Given the description of an element on the screen output the (x, y) to click on. 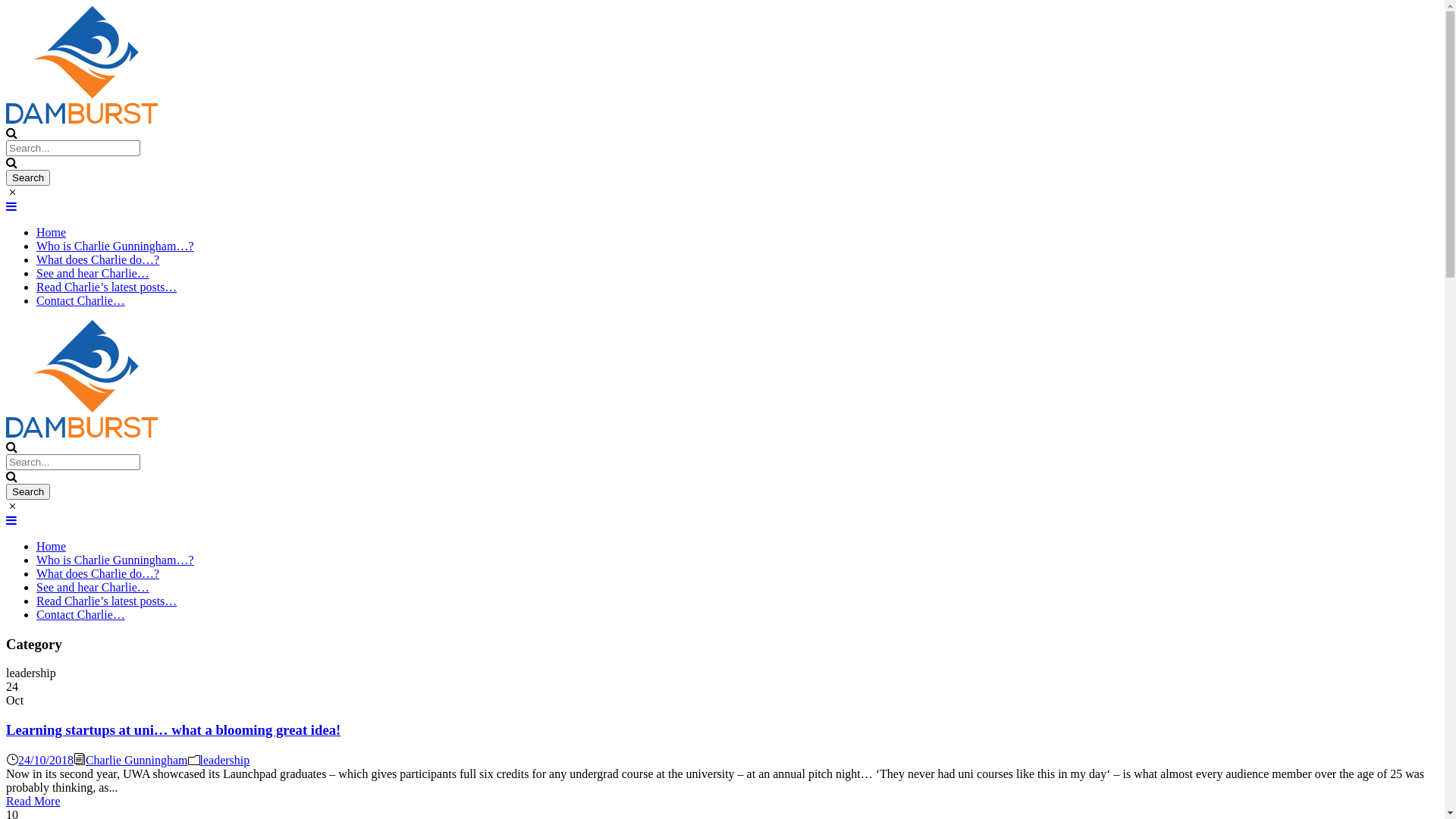
Home Element type: text (50, 231)
leadership Element type: text (225, 759)
Search Element type: text (28, 491)
24/10/2018 Element type: text (45, 759)
Charlie Gunningham Element type: text (136, 759)
Search Element type: text (28, 177)
Home Element type: text (50, 545)
Read More Element type: text (33, 800)
Damburst Logo Element type: hover (81, 64)
Damburst Logo Element type: hover (81, 378)
